Given the description of an element on the screen output the (x, y) to click on. 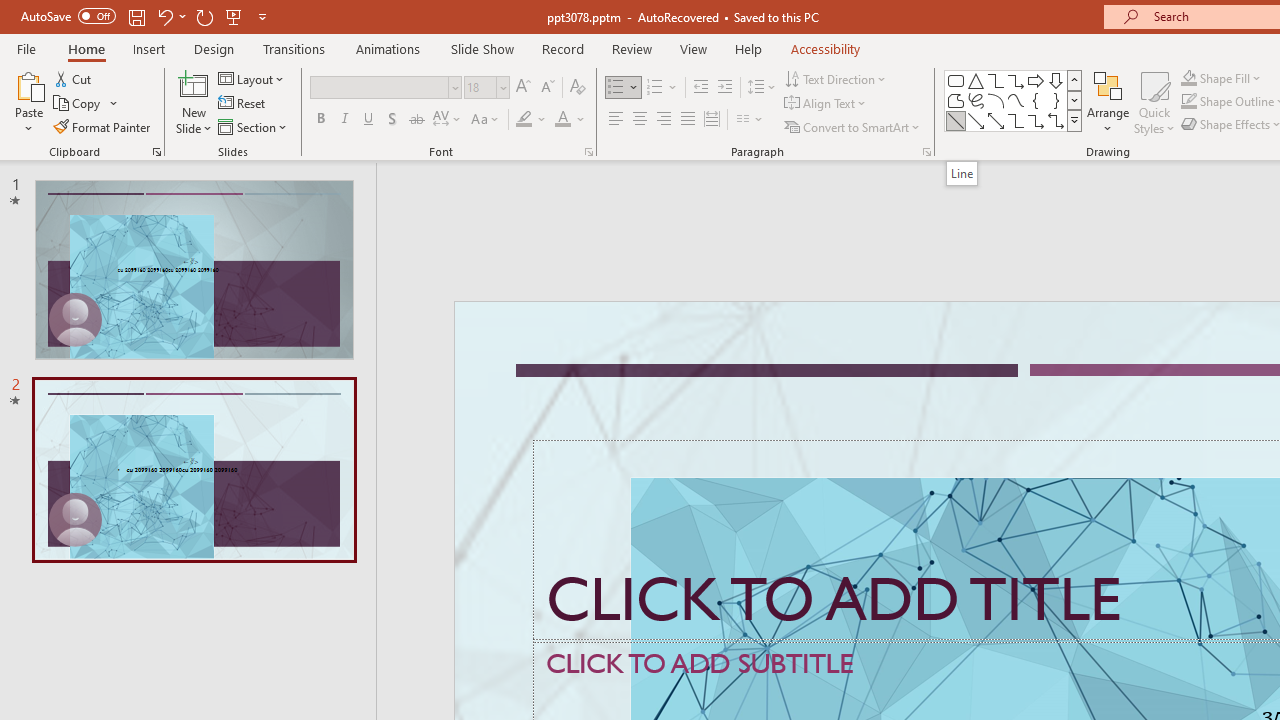
Font Color Red (562, 119)
Line (955, 120)
Center (639, 119)
Section (254, 126)
Font (385, 87)
Increase Font Size (522, 87)
Text Direction (836, 78)
Justify (687, 119)
Copy (85, 103)
Paragraph... (926, 151)
Left Brace (1035, 100)
